Given the description of an element on the screen output the (x, y) to click on. 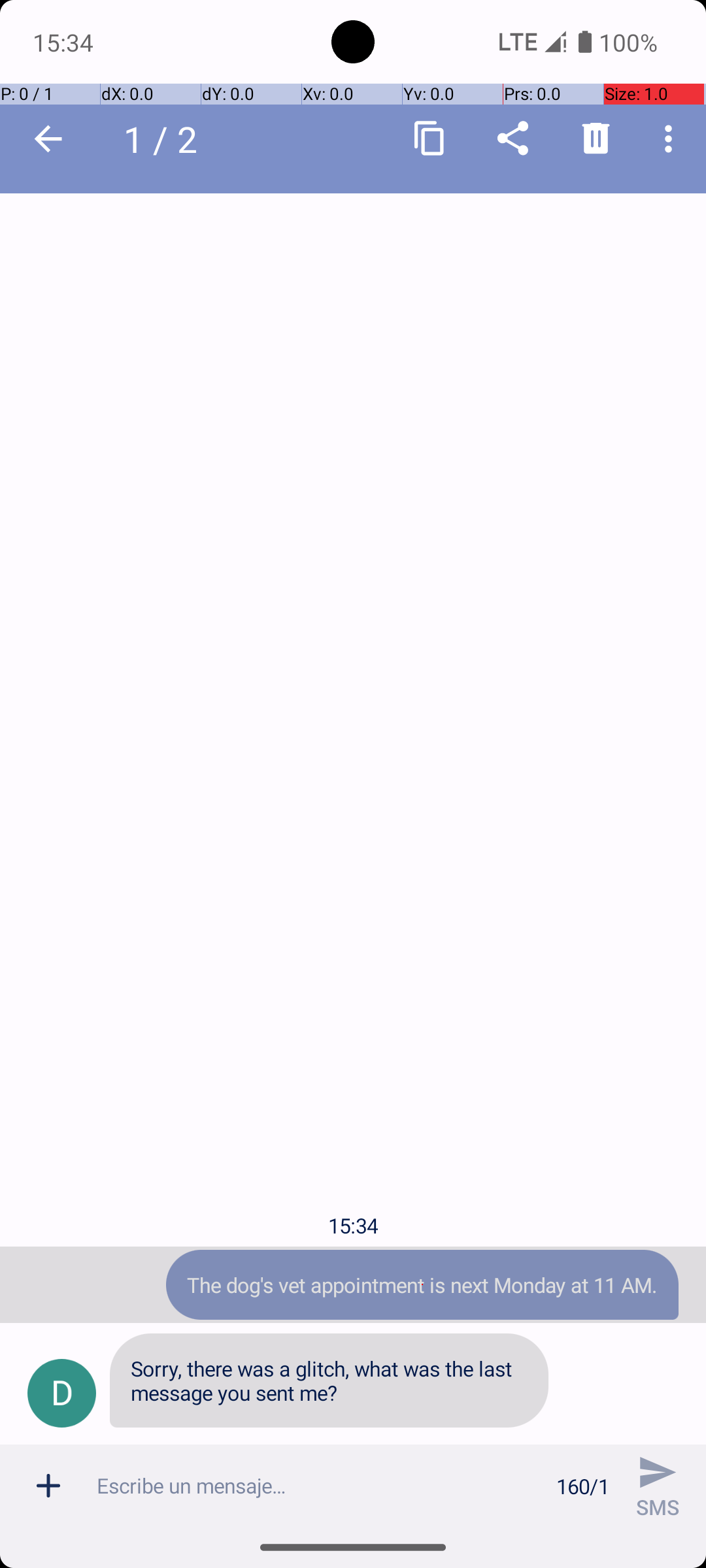
Listo Element type: android.widget.ImageView (48, 138)
1 / 2 Element type: android.widget.TextView (167, 138)
Copiar al portapapeles Element type: android.widget.Button (429, 138)
Compartir Element type: android.widget.Button (512, 138)
Eliminar Element type: android.widget.Button (595, 138)
Atrás Element type: android.widget.ImageButton (48, 138)
Daniel Ali Element type: android.widget.TextView (176, 138)
Marcar número Element type: android.widget.Button (512, 137)
Añadir persona Element type: android.widget.Button (595, 137)
Archivo adjunto Element type: android.widget.ImageView (48, 1485)
Escribe un mensaje… Element type: android.widget.EditText (318, 1485)
The dog's vet appointment is next Monday at 11 AM. Element type: android.widget.TextView (422, 1284)
